Given the description of an element on the screen output the (x, y) to click on. 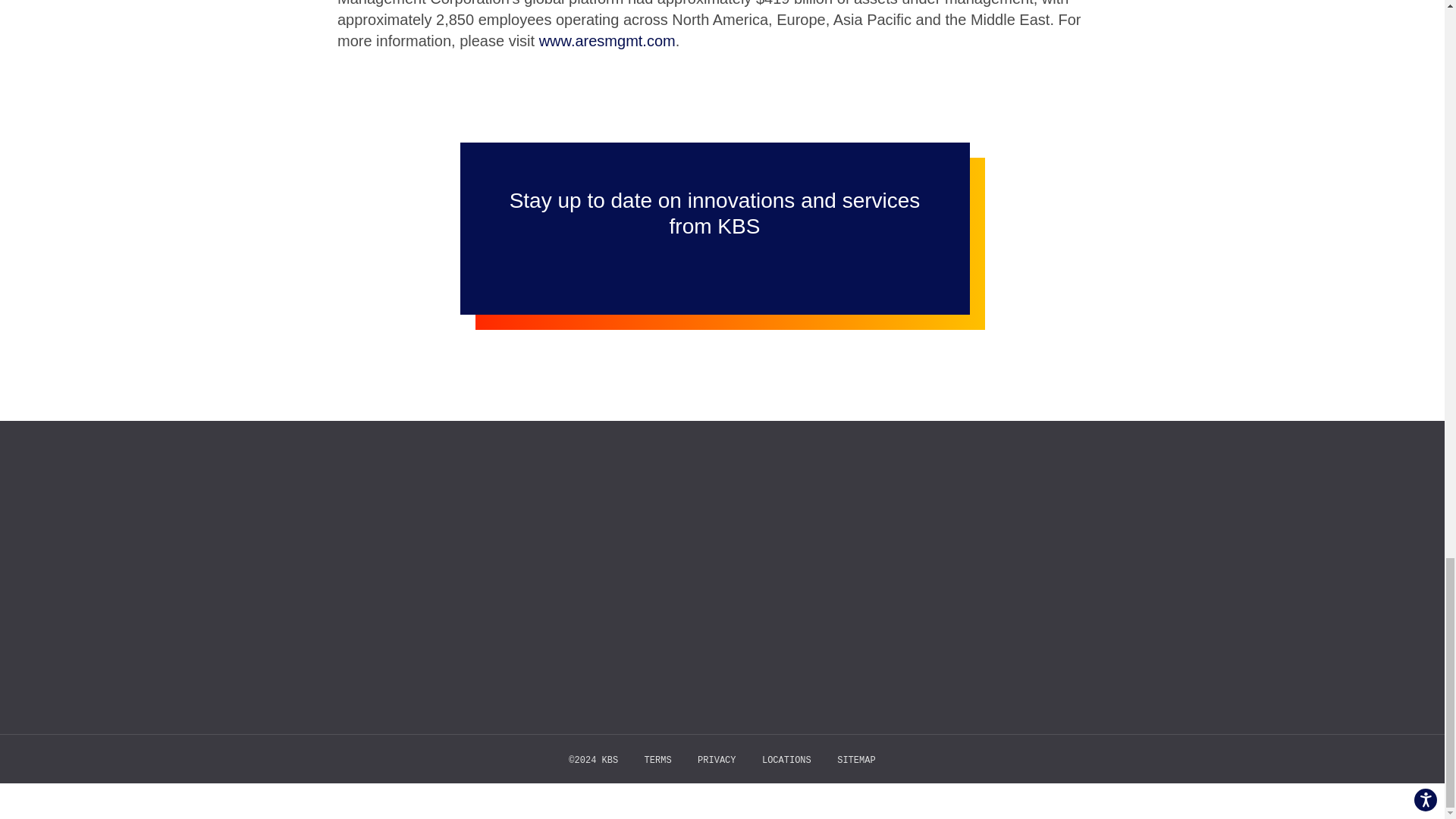
PRIVACY (716, 760)
SITEMAP (856, 760)
TERMS (658, 760)
www.aresmgmt.com (606, 40)
LOCATIONS (785, 760)
